Given the description of an element on the screen output the (x, y) to click on. 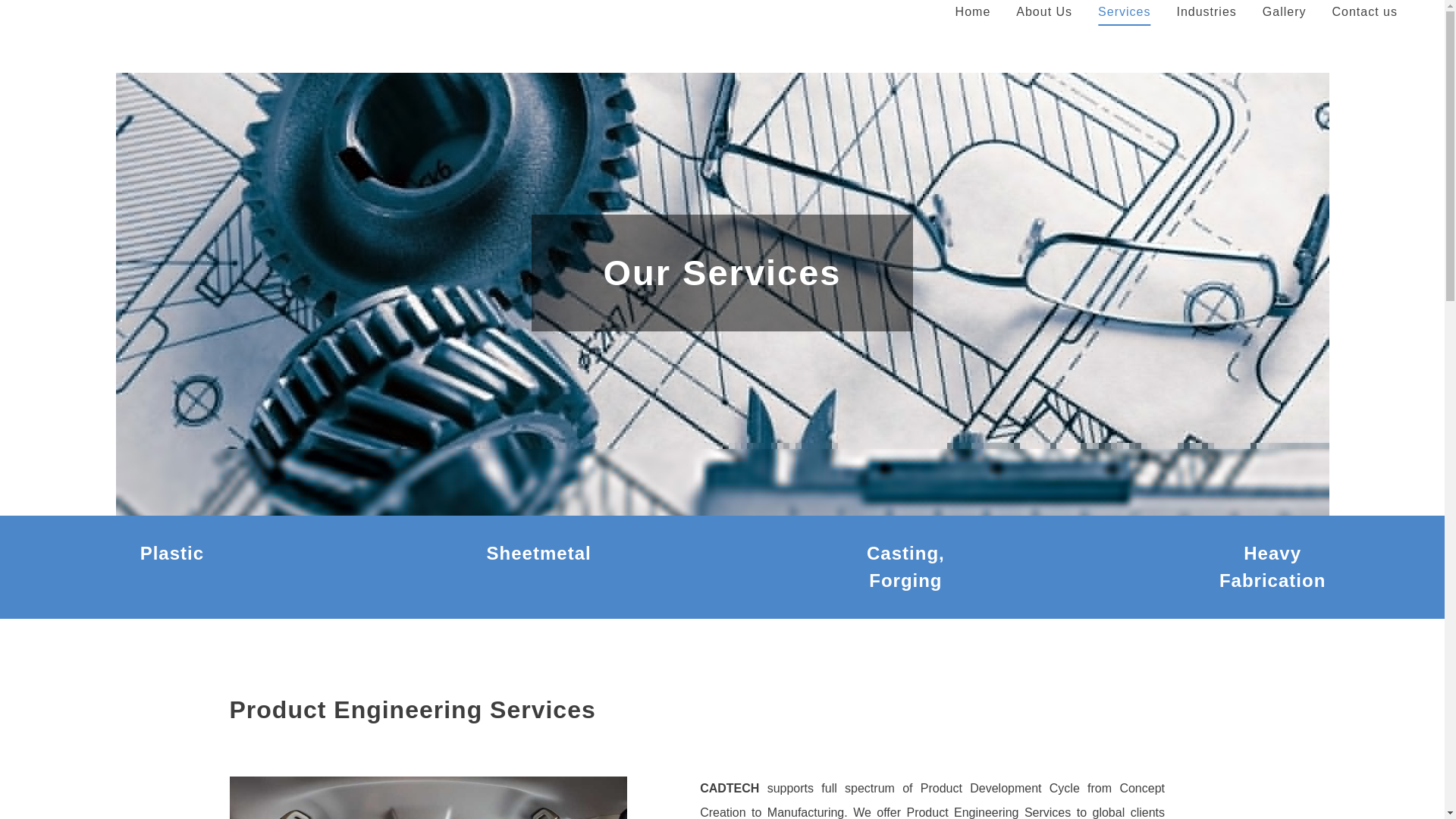
Home (973, 12)
Gallery (1284, 12)
About Us (1043, 12)
Industries (1206, 12)
Services (1123, 12)
Contact us (1364, 12)
